Given the description of an element on the screen output the (x, y) to click on. 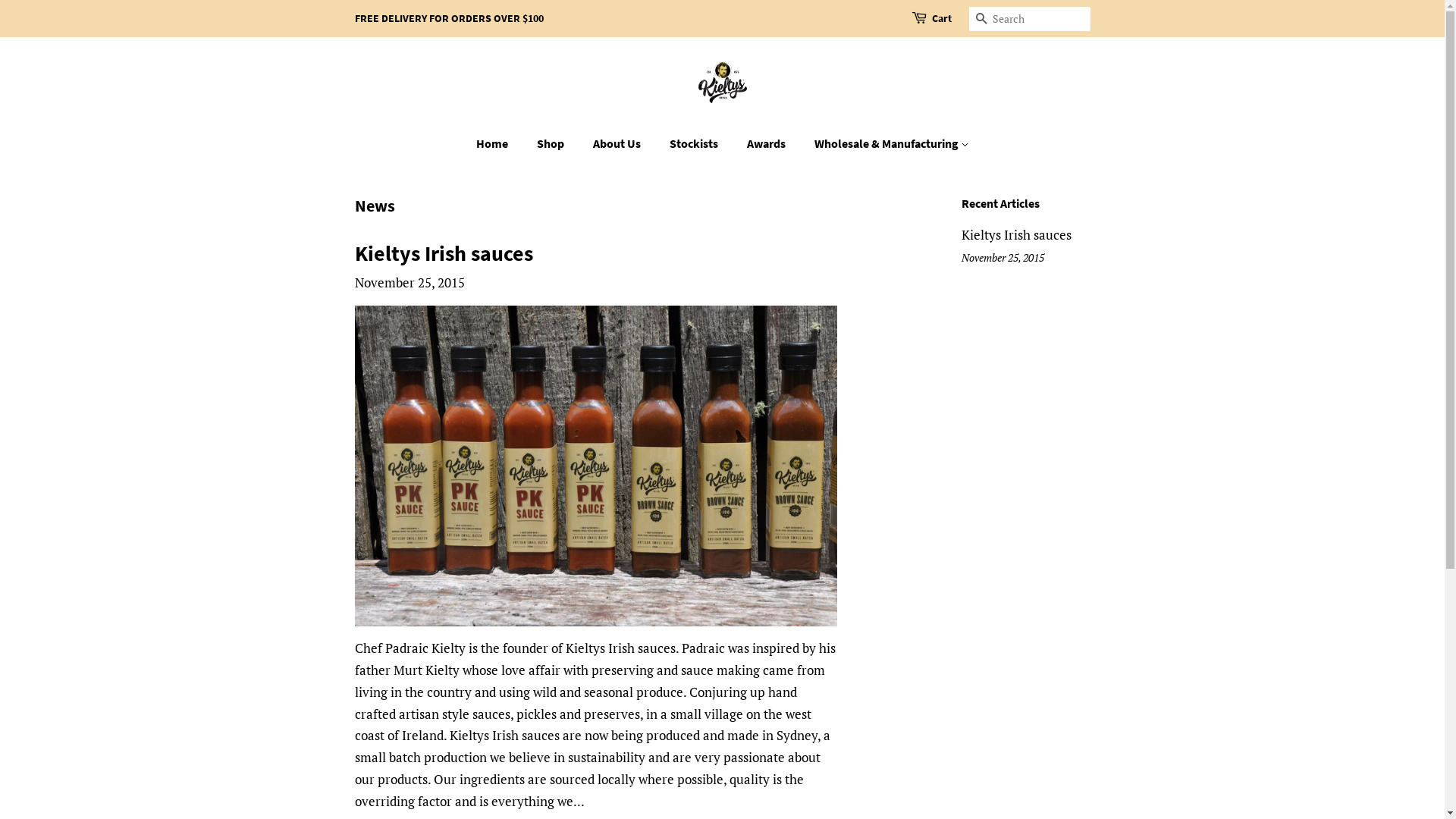
Shop Element type: text (551, 143)
Wholesale & Manufacturing Element type: text (885, 143)
Home Element type: text (499, 143)
Kieltys Irish sauces Element type: text (443, 252)
Search Element type: text (981, 18)
Stockists Element type: text (695, 143)
Cart Element type: text (940, 18)
Kieltys Irish sauces Element type: text (1016, 234)
About Us Element type: text (617, 143)
Awards Element type: text (767, 143)
